Given the description of an element on the screen output the (x, y) to click on. 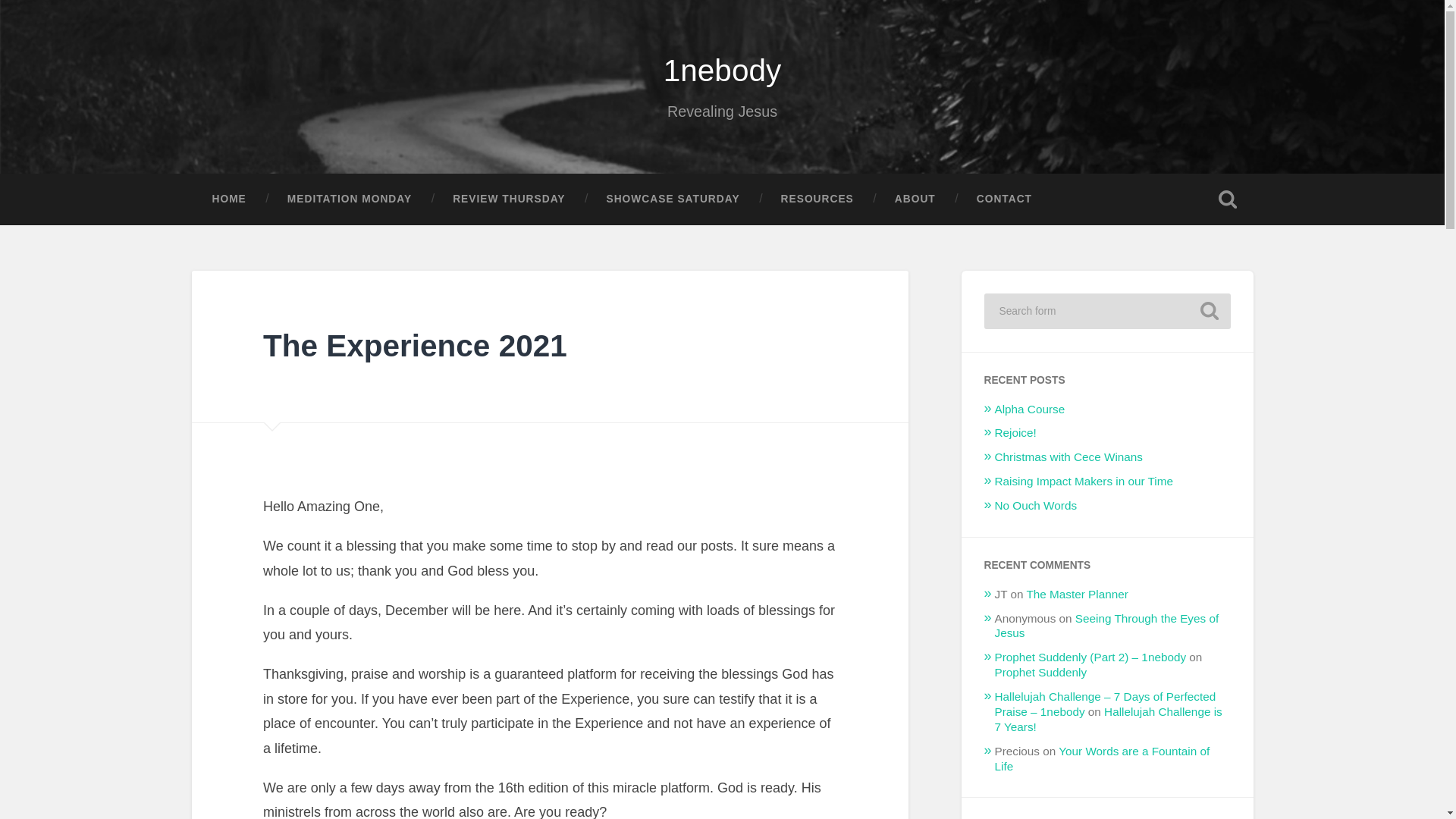
Search (1209, 310)
CONTACT (1004, 199)
Seeing Through the Eyes of Jesus (1107, 625)
Alpha Course (1029, 408)
Christmas with Cece Winans (1068, 456)
Rejoice! (1015, 431)
MEDITATION MONDAY (349, 199)
The Master Planner (1076, 594)
The Experience 2021 (415, 345)
RESOURCES (817, 199)
HOME (228, 199)
ABOUT (915, 199)
Search (1209, 310)
No Ouch Words (1035, 504)
1nebody (721, 70)
